Given the description of an element on the screen output the (x, y) to click on. 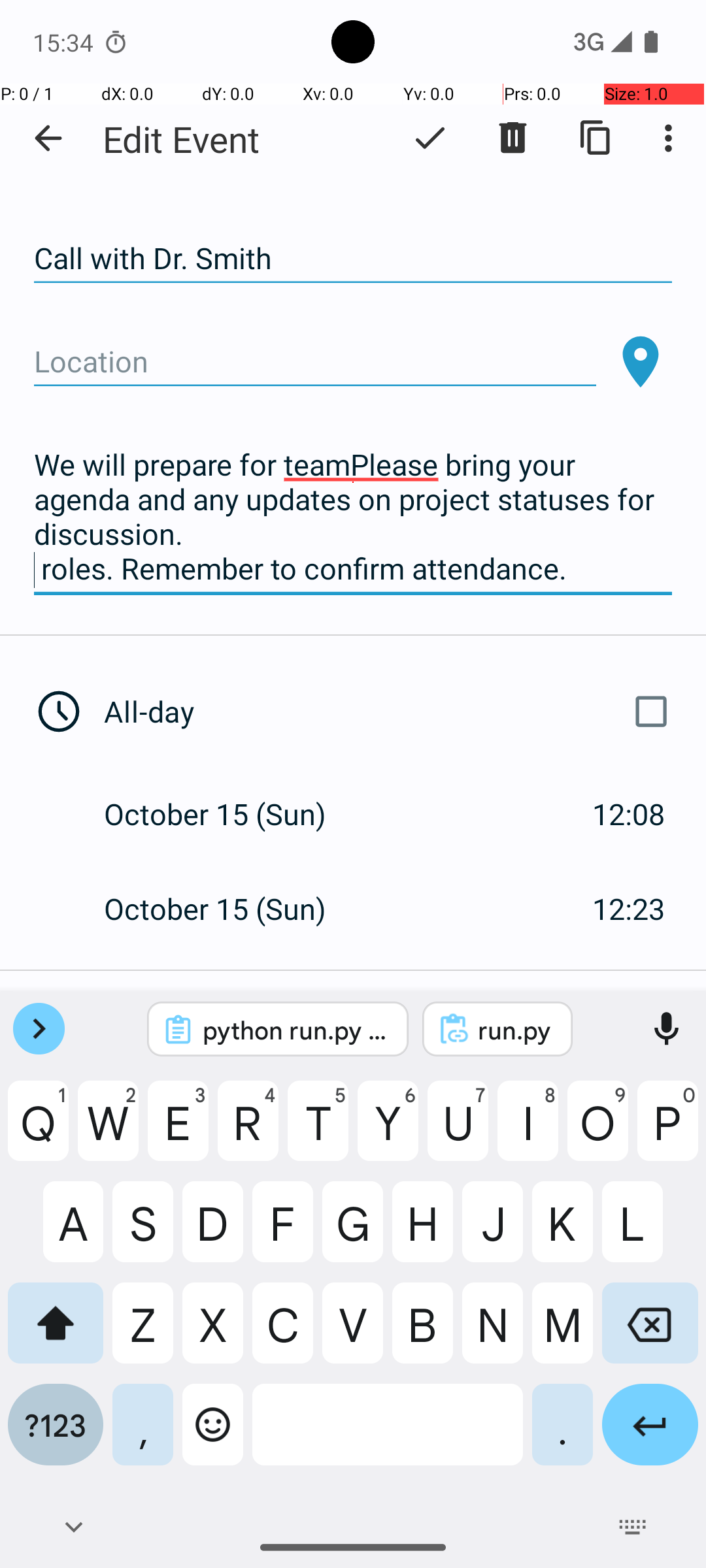
We will prepare for teamPlease bring your agenda and any updates on project statuses for discussion.
 roles. Remember to confirm attendance. Element type: android.widget.EditText (352, 516)
12:08 Element type: android.widget.TextView (628, 813)
12:23 Element type: android.widget.TextView (628, 908)
python run.py \   --suite_family=android_world \   --agent_name=t3a_gpt4 \   --perform_emulator_setup \   --tasks=ContactsAddContact,ClockStopWatchRunning \  # Optional: Just run on a subset. Element type: android.widget.TextView (294, 1029)
run.py Element type: android.widget.TextView (514, 1029)
